Given the description of an element on the screen output the (x, y) to click on. 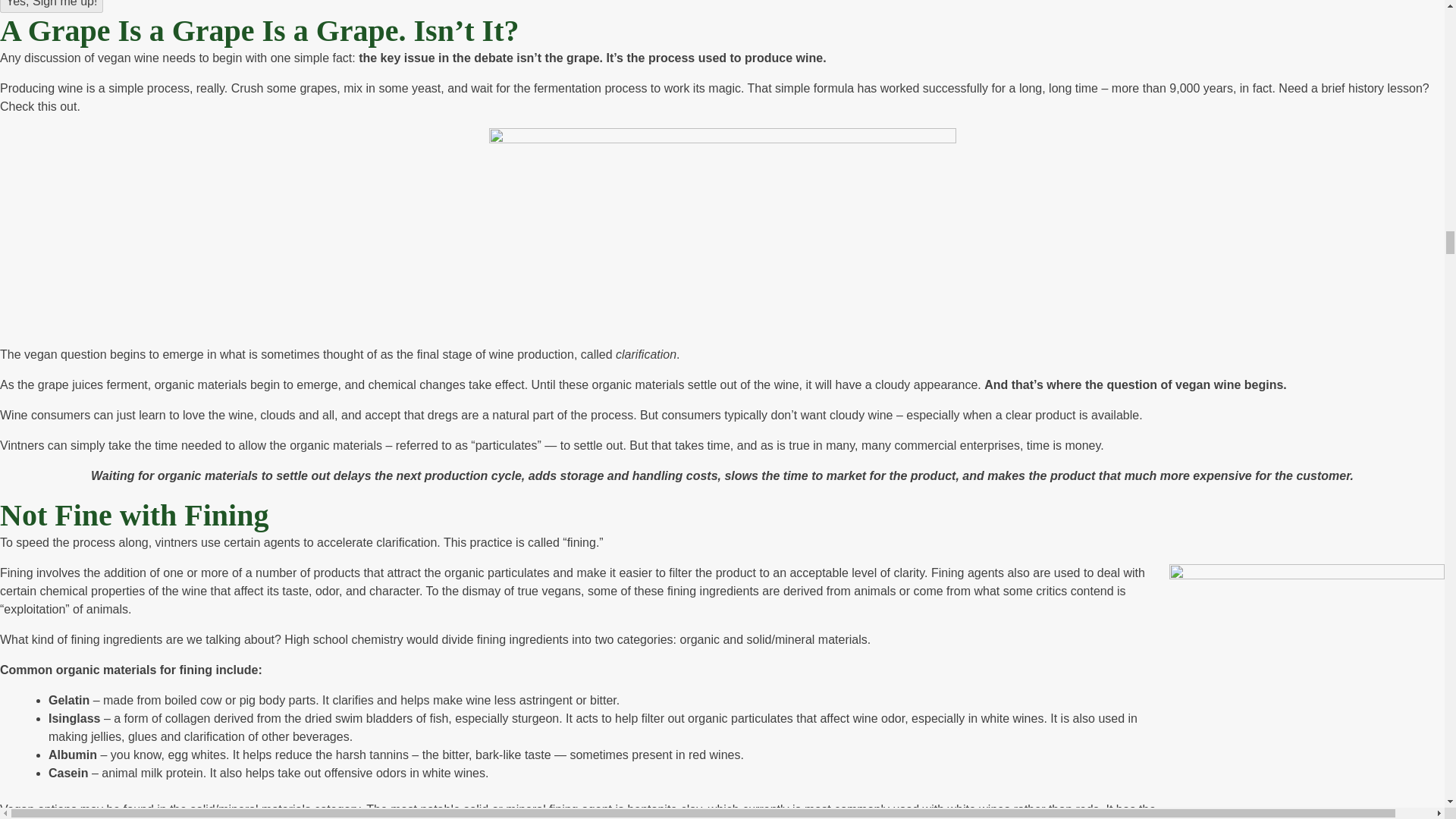
Yes, Sign me up! (51, 6)
